Given the description of an element on the screen output the (x, y) to click on. 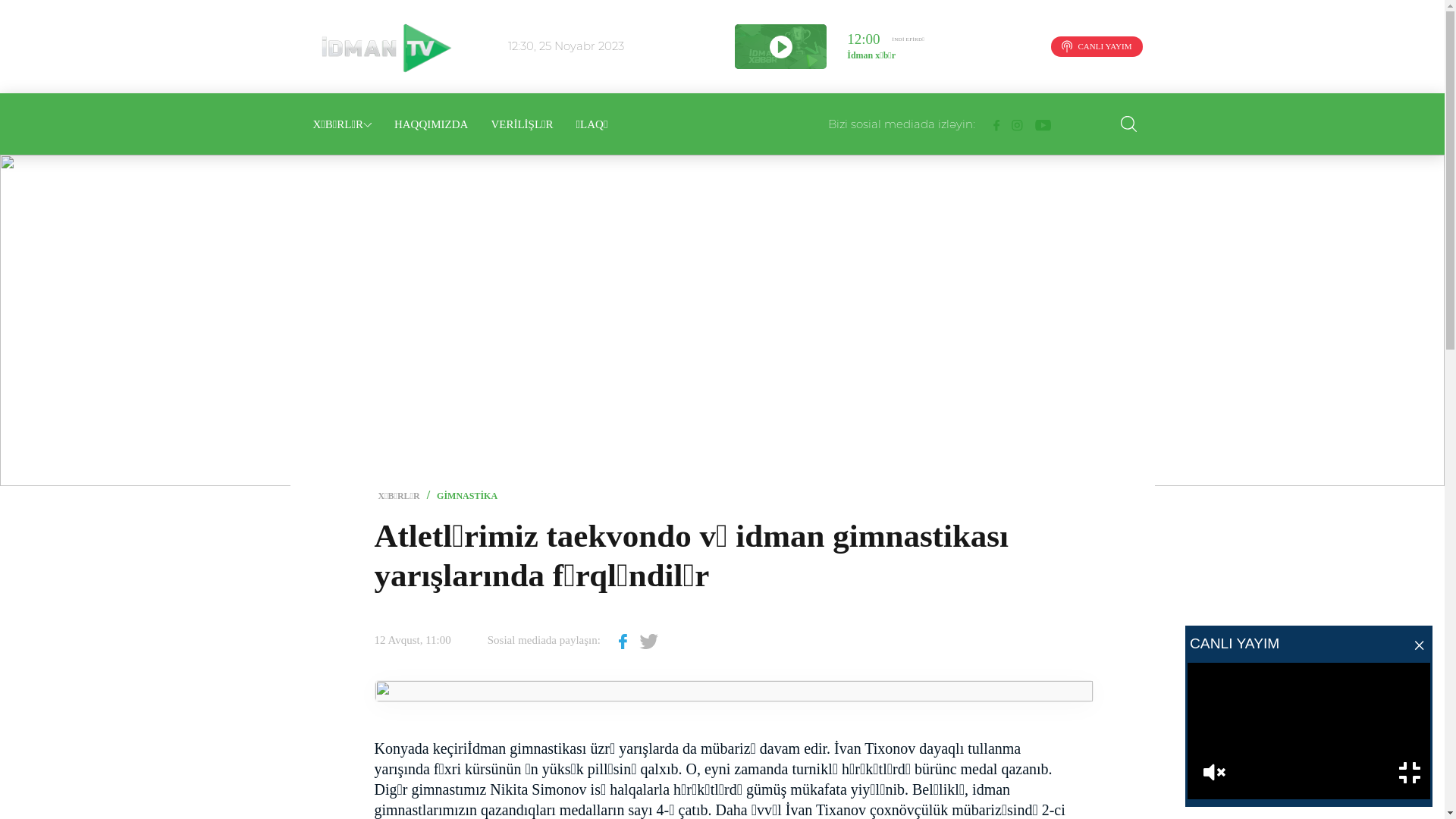
CANLI YAYIM Element type: text (1096, 46)
HAQQIMIZDA Element type: text (431, 124)
